Given the description of an element on the screen output the (x, y) to click on. 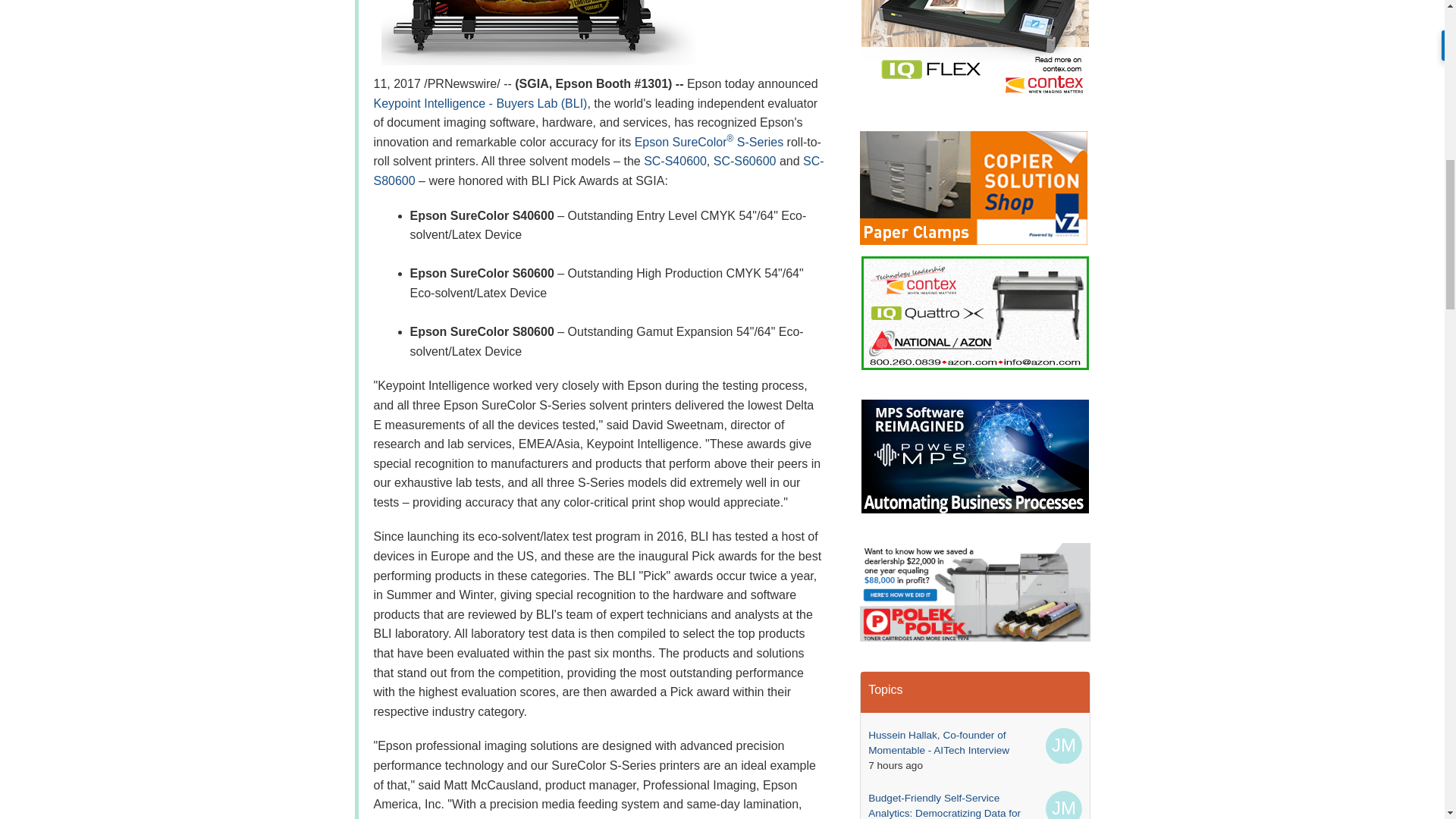
JM (1063, 746)
John martech (1063, 746)
JM (1063, 805)
John martech (1063, 805)
